Given the description of an element on the screen output the (x, y) to click on. 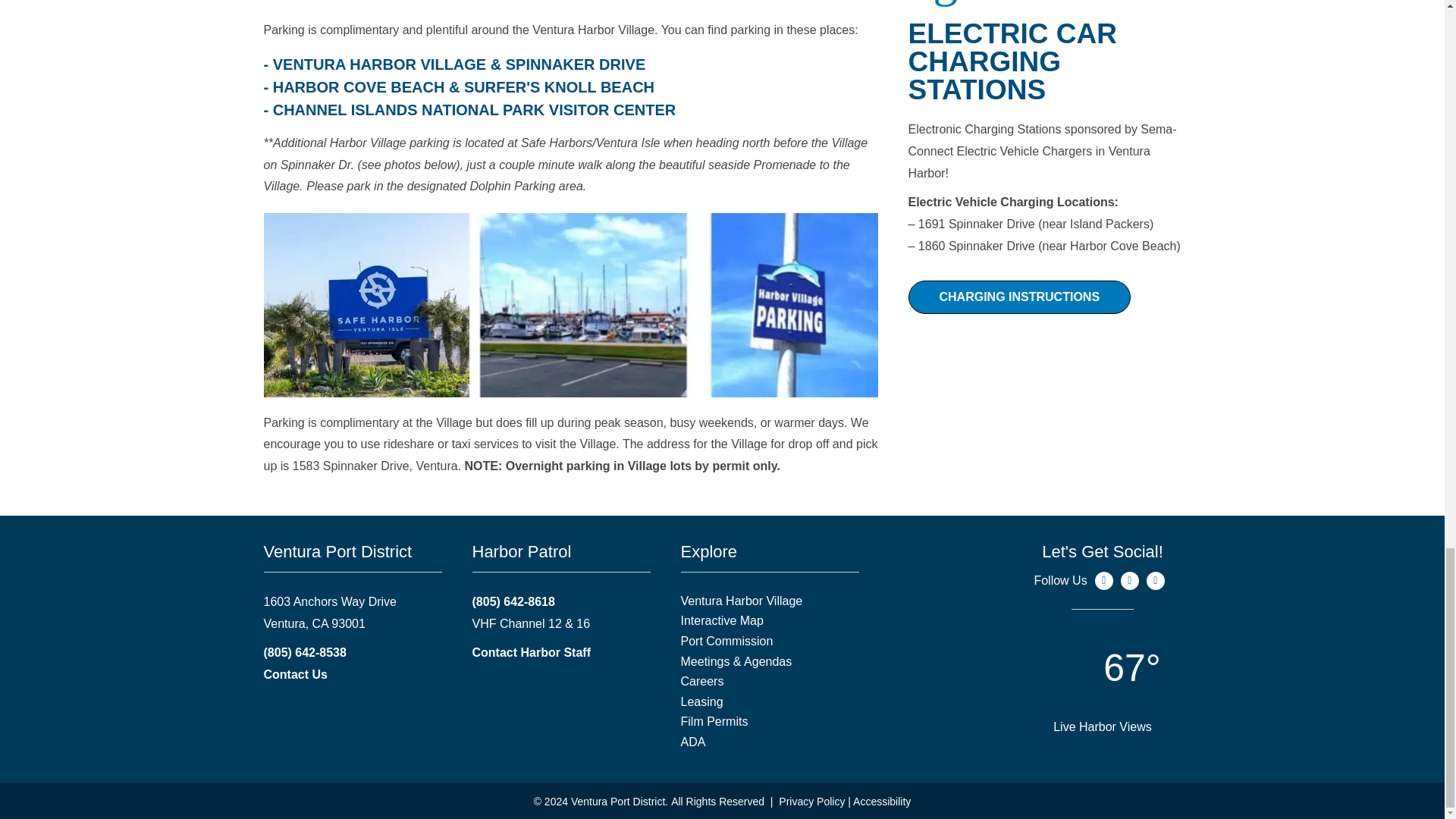
parking (570, 304)
